Given the description of an element on the screen output the (x, y) to click on. 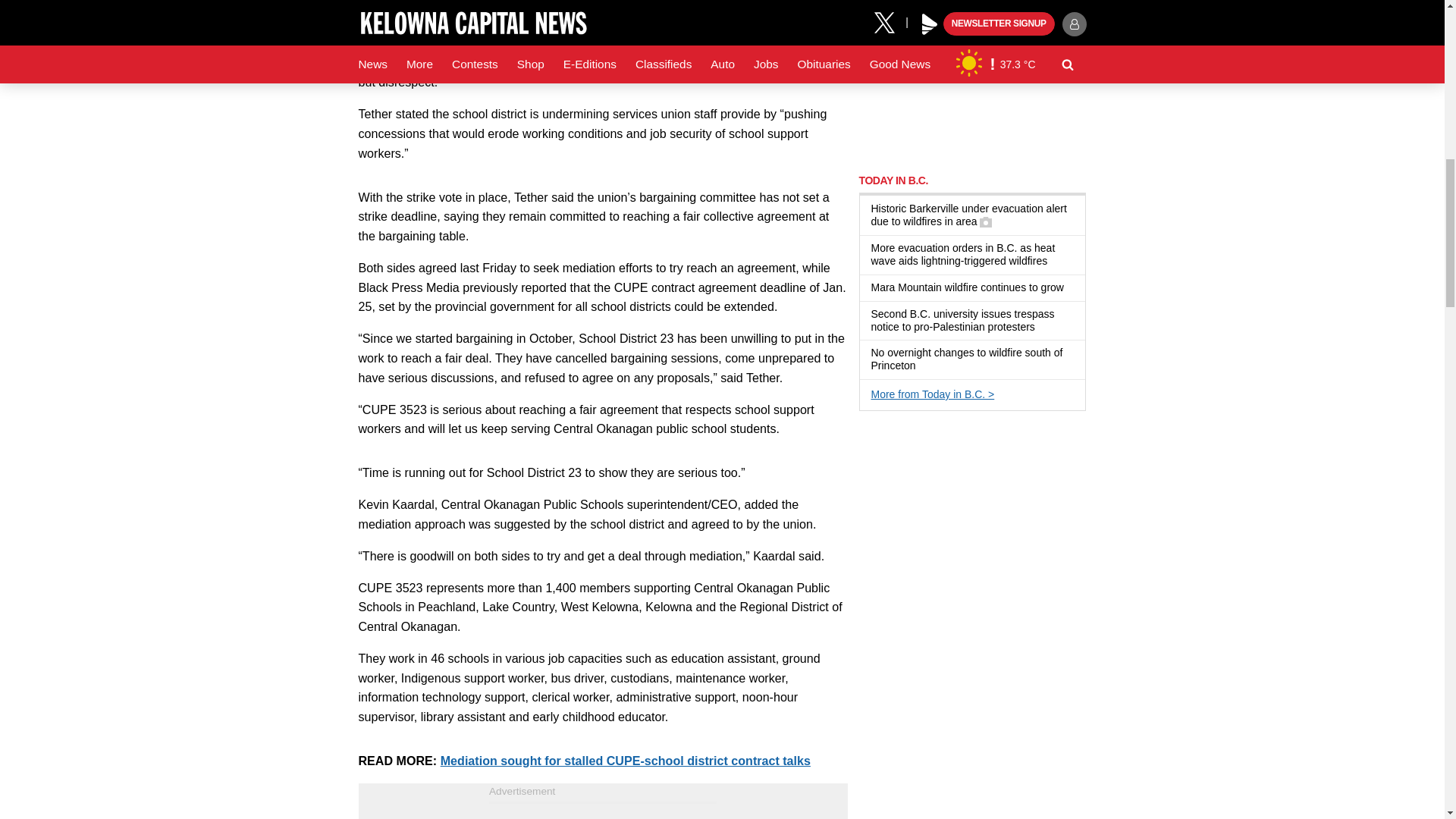
3rd party ad content (602, 811)
